Given the description of an element on the screen output the (x, y) to click on. 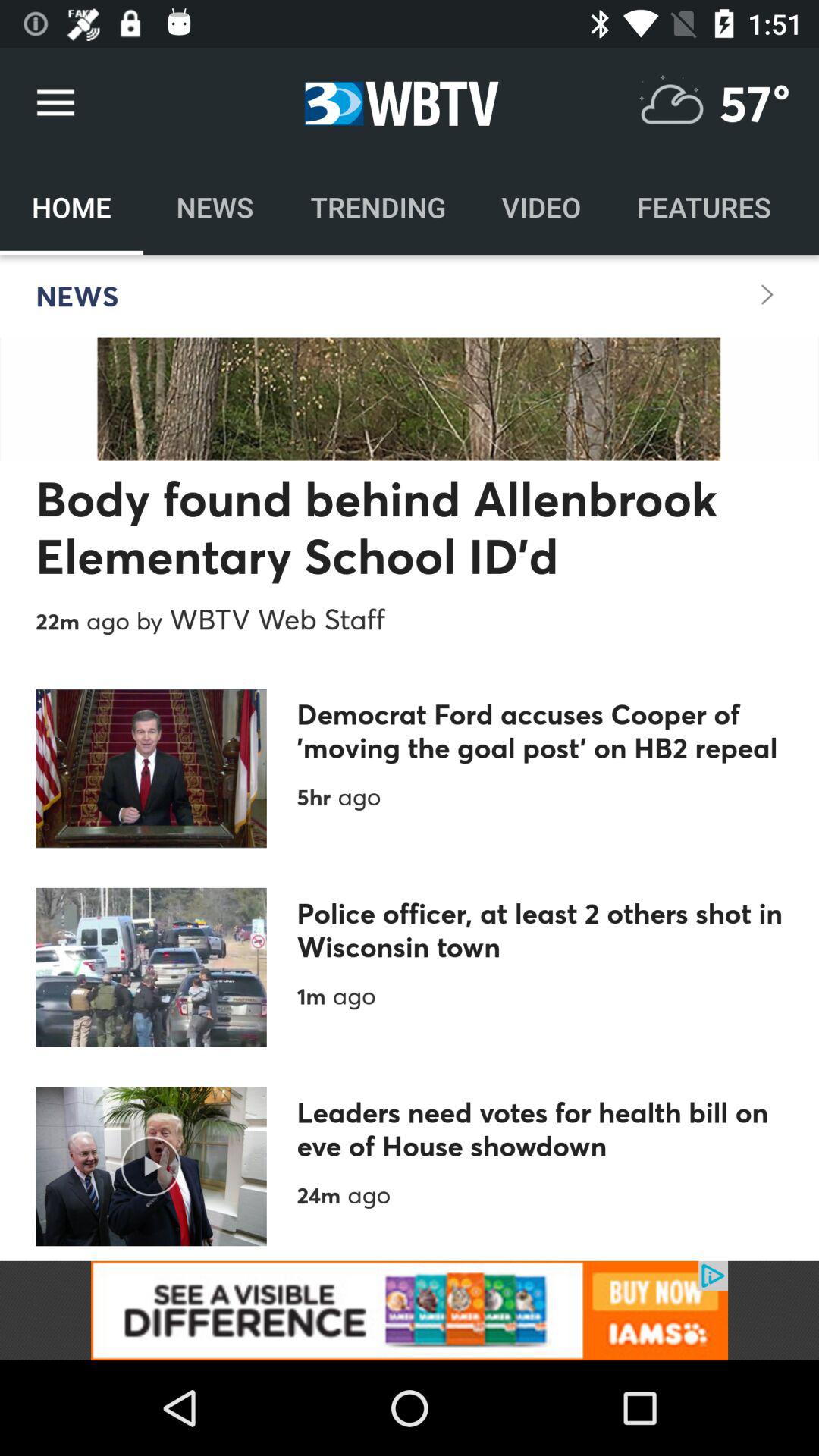
connect to link (409, 1310)
